Given the description of an element on the screen output the (x, y) to click on. 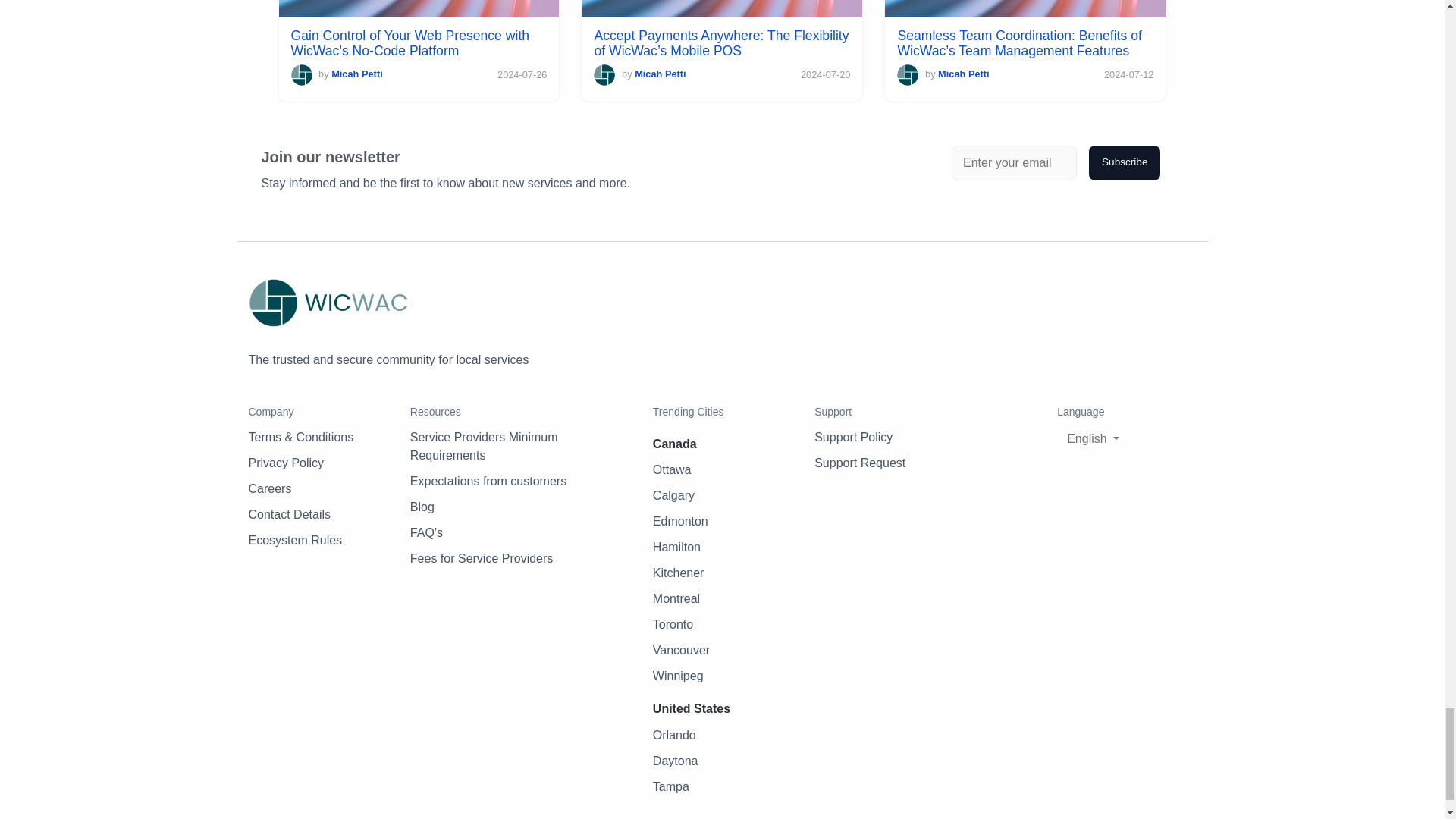
Contact Details (289, 513)
Micah Petti (659, 73)
Careers (270, 488)
Subscribe (1124, 162)
Micah Petti (963, 73)
Privacy Policy (286, 462)
Ecosystem Rules (295, 540)
Micah Petti (356, 73)
